Given the description of an element on the screen output the (x, y) to click on. 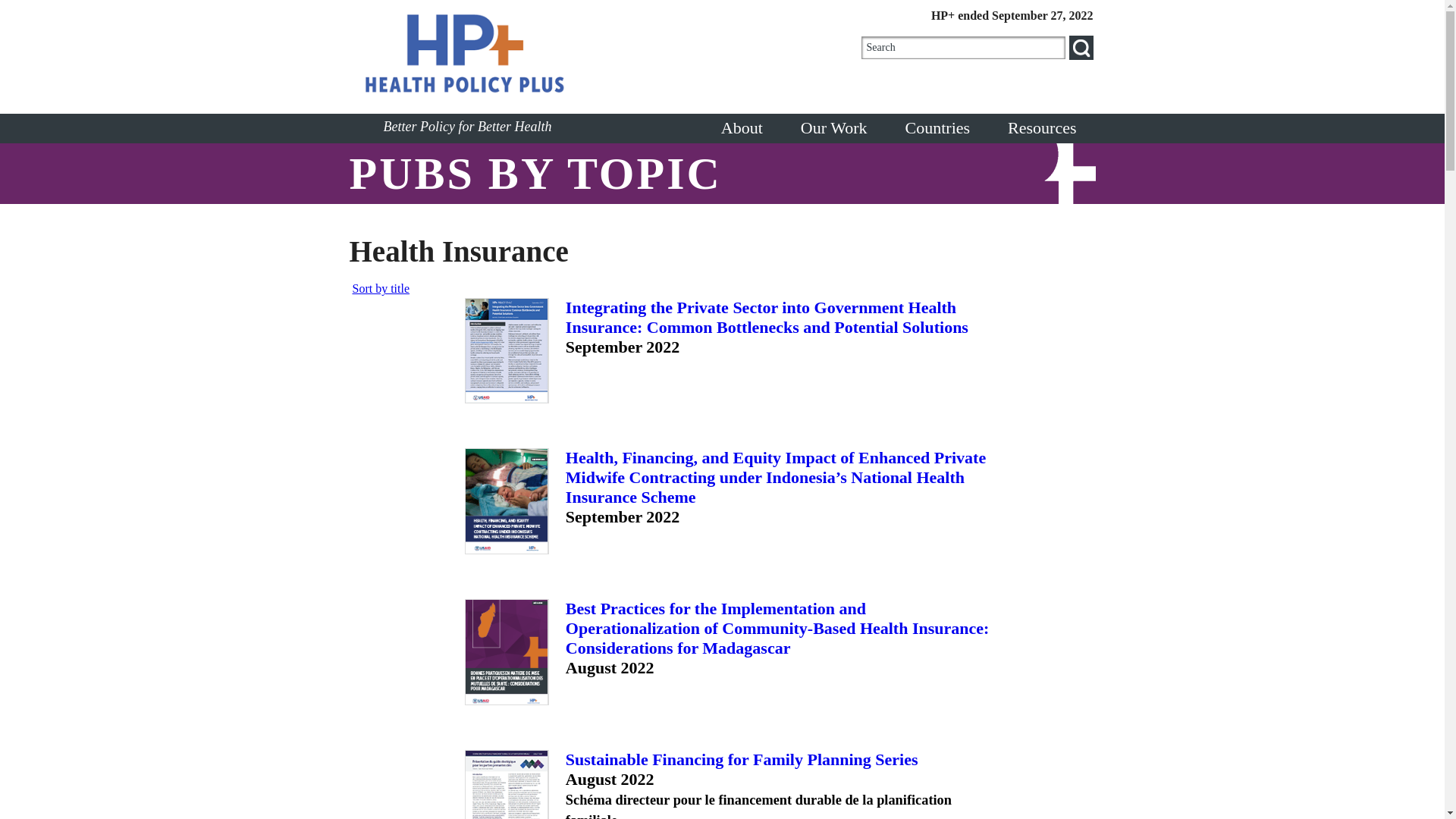
About (741, 128)
Go to Home Page (535, 54)
Resources (1041, 128)
Search (963, 47)
Our Work (833, 128)
submit search (1080, 47)
enter search text here (963, 47)
Sort by title (380, 287)
Countries (938, 128)
